Given the description of an element on the screen output the (x, y) to click on. 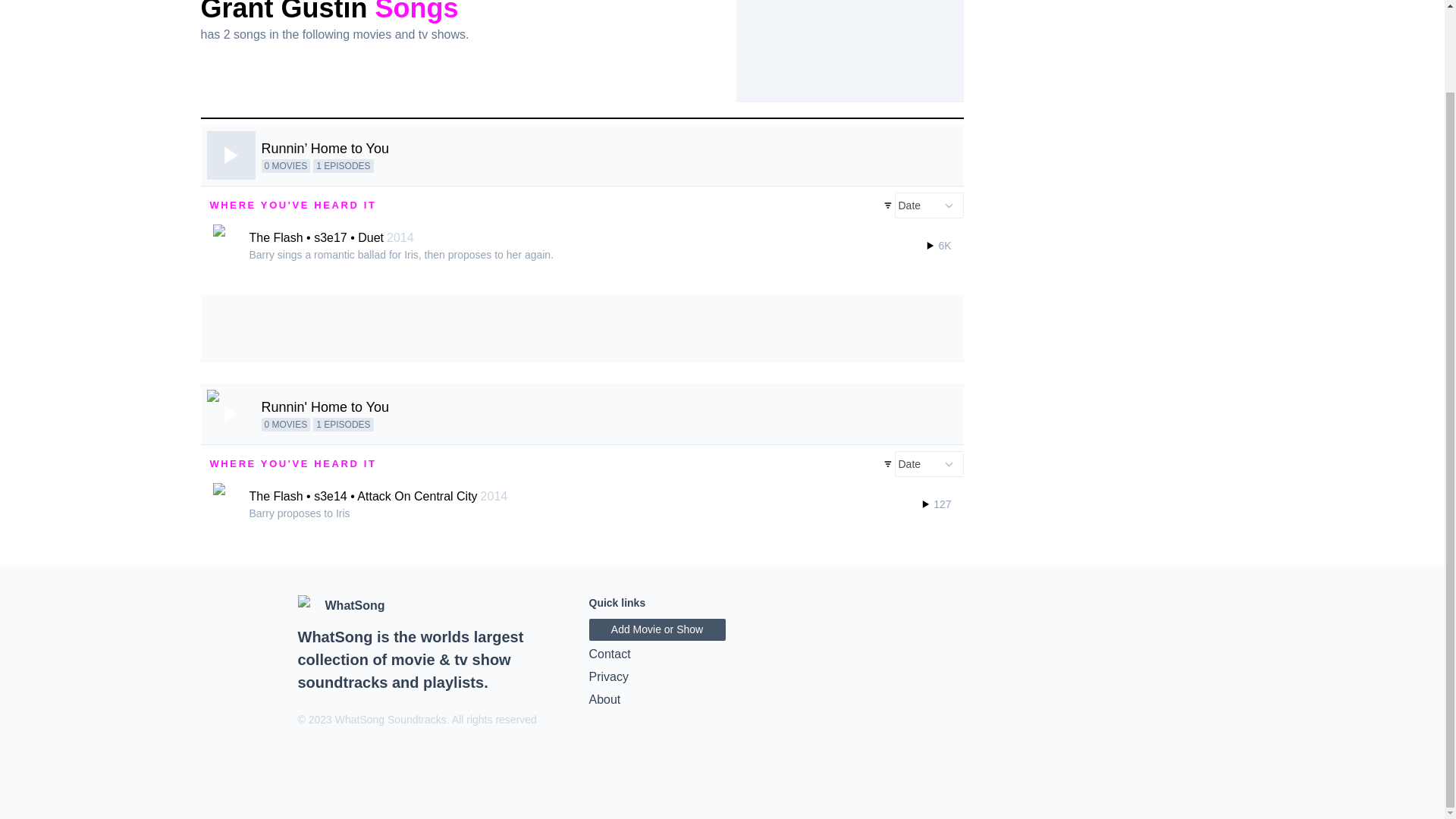
Add Movie or Show (656, 629)
Contact (722, 654)
Privacy (722, 677)
About (722, 700)
Runnin' Home to You (324, 407)
